Given the description of an element on the screen output the (x, y) to click on. 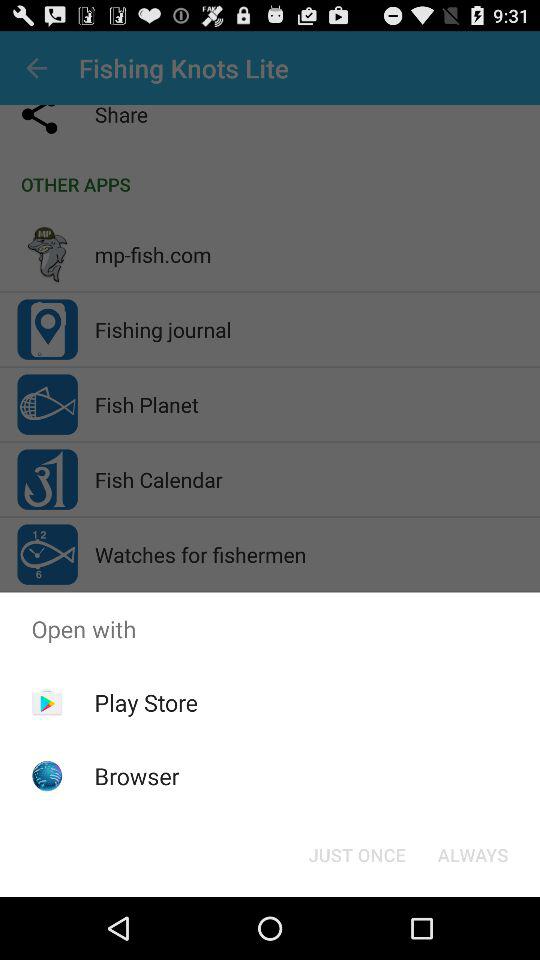
turn off item at the bottom (356, 854)
